Given the description of an element on the screen output the (x, y) to click on. 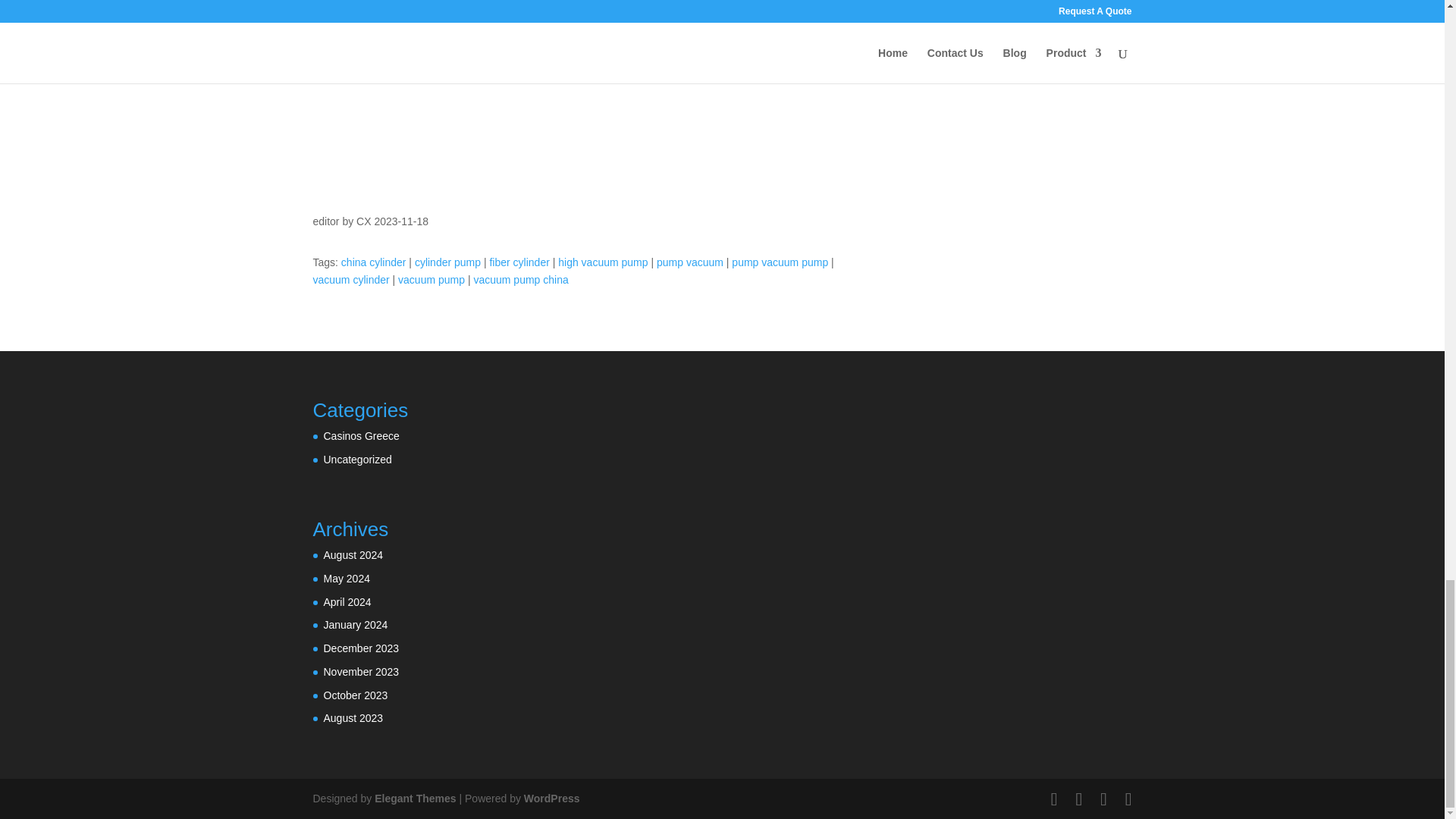
May 2024 (346, 578)
pump vacuum pump (780, 262)
April 2024 (347, 601)
vacuum pump (430, 279)
cylinder pump (447, 262)
fiber cylinder (518, 262)
Uncategorized (357, 459)
November 2023 (360, 671)
August 2024 (352, 554)
china cylinder (373, 262)
